Given the description of an element on the screen output the (x, y) to click on. 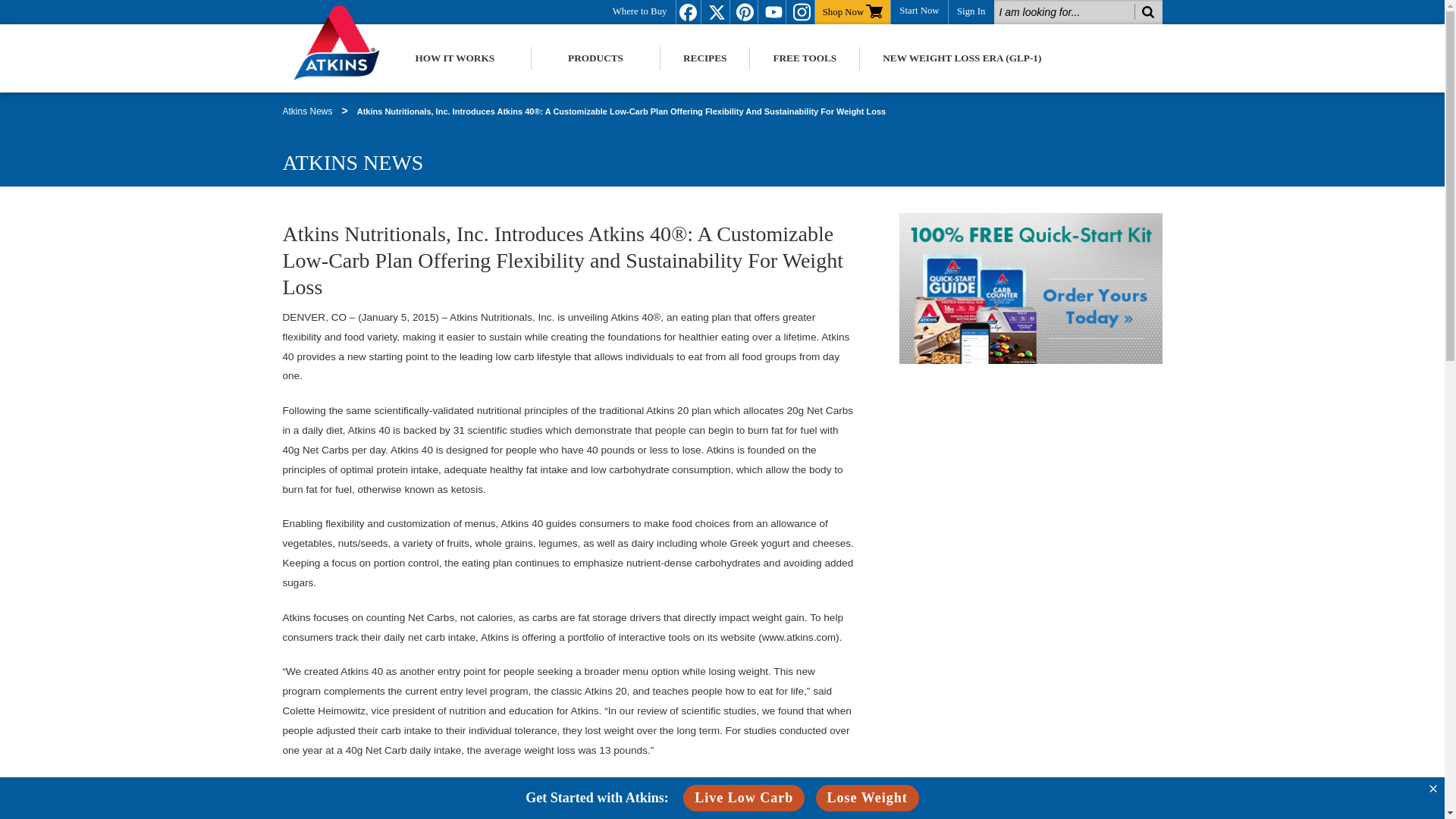
Start Now (919, 9)
Where to Buy (639, 11)
FREE TOOLS (804, 57)
PRODUCTS (595, 57)
Atkins (344, 42)
Shop Now (852, 10)
HOW IT WORKS (454, 57)
RECIPES (705, 57)
Sign In (970, 11)
